Given the description of an element on the screen output the (x, y) to click on. 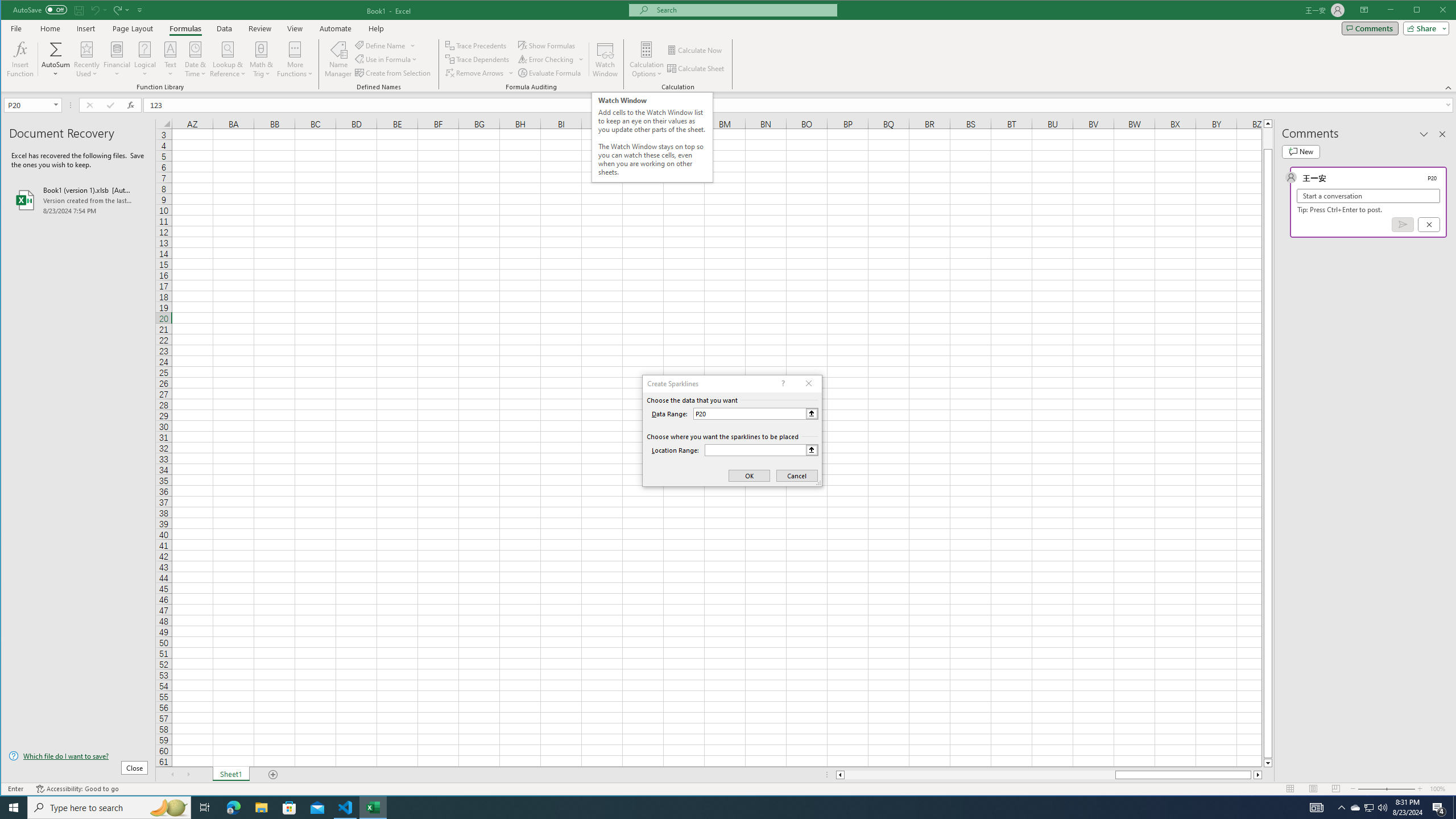
Start a conversation (1368, 195)
Trace Dependents (478, 59)
Lookup & Reference (227, 59)
Maximize (1432, 11)
Create from Selection... (393, 72)
Date & Time (195, 59)
Calculate Now (695, 49)
